Given the description of an element on the screen output the (x, y) to click on. 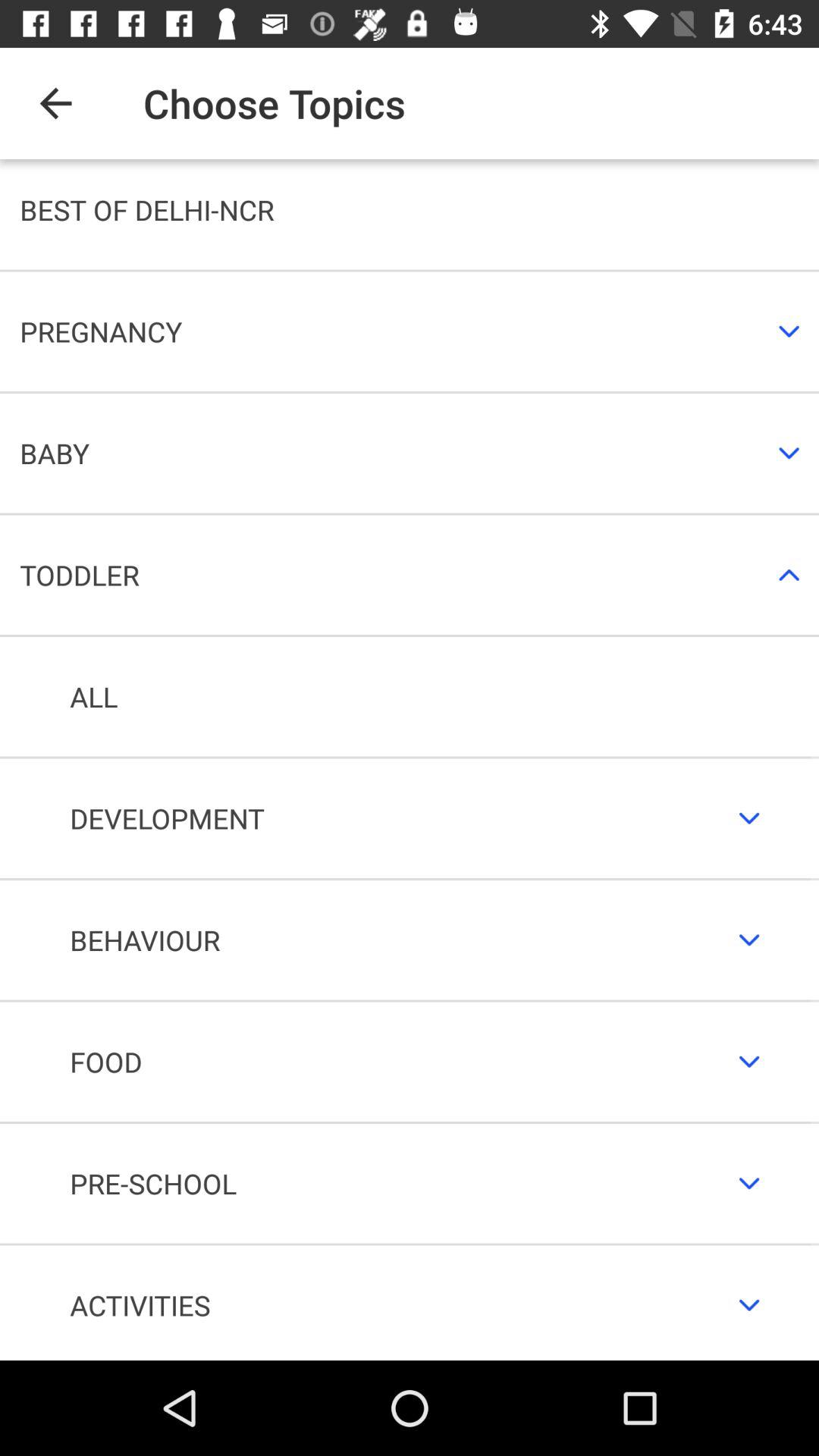
press the icon at the top left corner (55, 103)
